Given the description of an element on the screen output the (x, y) to click on. 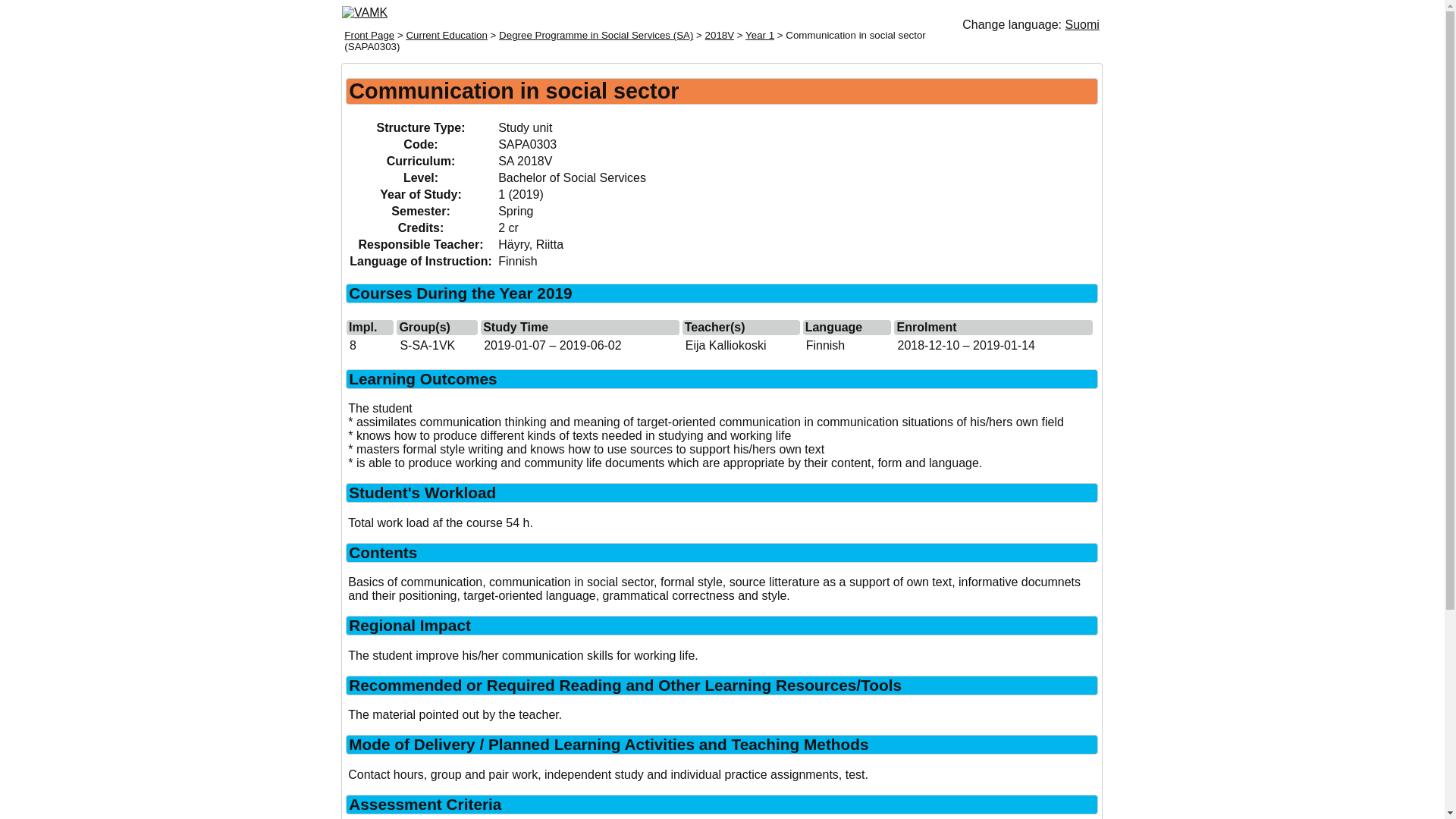
Front Page (368, 34)
2018V (719, 34)
Current Education (446, 34)
